Given the description of an element on the screen output the (x, y) to click on. 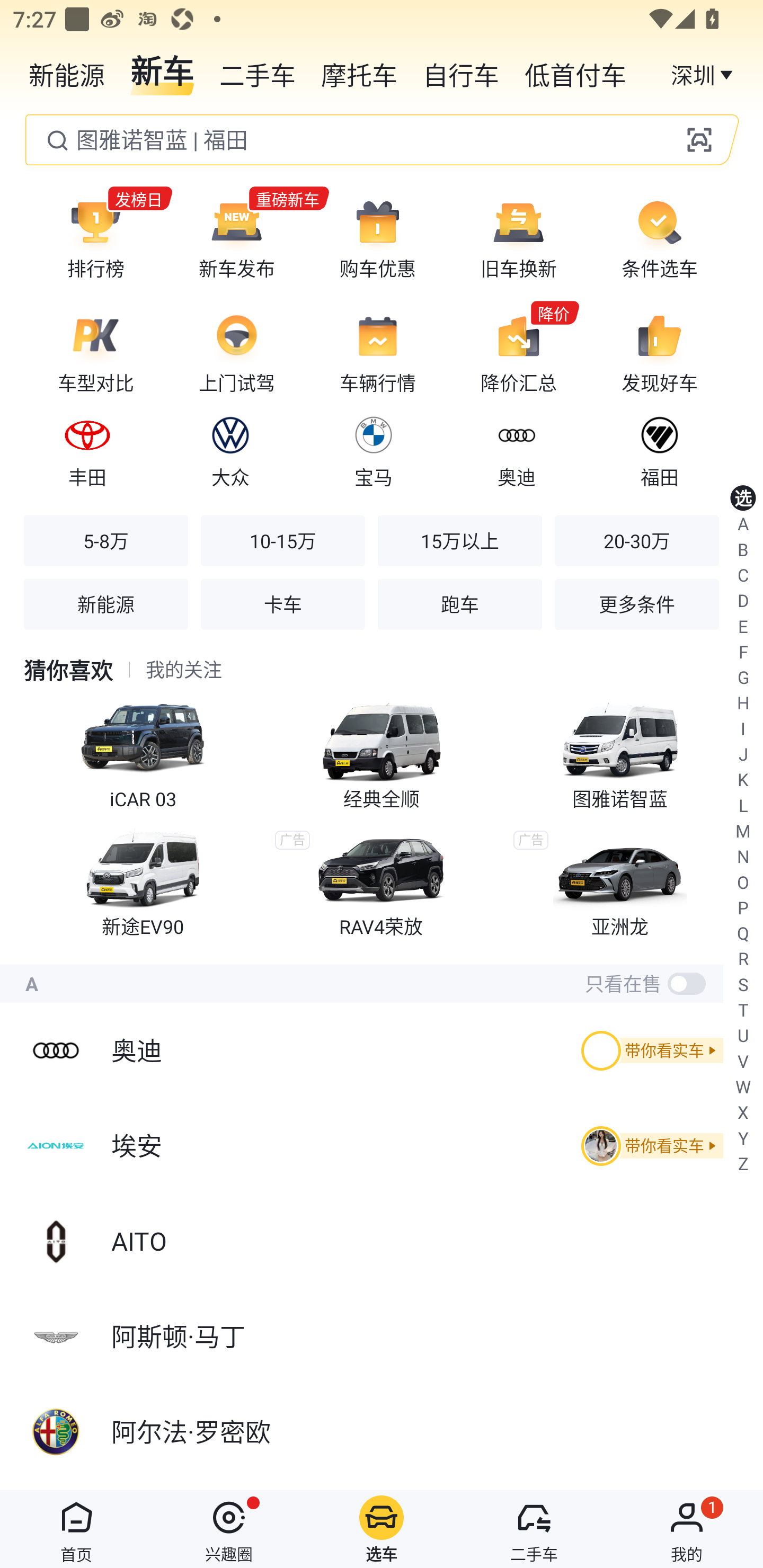
新能源 (66, 72)
新车 (161, 72)
二手车 (257, 72)
摩托车 (359, 72)
自行车 (460, 72)
低首付车 (575, 72)
深圳 (703, 72)
发榜日 排行榜 (95, 238)
重磅新车 新车发布 (236, 238)
购车优惠 (377, 238)
旧车换新 (518, 238)
条件选车 (659, 238)
车型对比 (95, 352)
上门试驾 (236, 352)
车辆行情 (377, 352)
降价 降价汇总 (518, 352)
发现好车 (659, 352)
丰田 (87, 449)
大众 (230, 449)
宝马 (373, 449)
奥迪 (516, 449)
福田 (659, 449)
5-8万 (105, 540)
10-15万 (282, 540)
15万以上 (459, 540)
20-30万 (636, 540)
新能源 (105, 604)
卡车 (282, 604)
跑车 (459, 604)
更多条件 (636, 604)
猜你喜欢 (67, 669)
我的关注 (183, 669)
iCAR 03 (142, 750)
经典全顺 (381, 750)
图雅诺智蓝 (619, 750)
新途EV90 (142, 881)
RAV4荣放 广告 (381, 881)
亚洲龙 广告 (619, 881)
奥迪 带你看实车  (381, 1050)
带你看实车  (649, 1050)
埃安 带你看实车  (381, 1145)
带你看实车  (649, 1146)
AITO (381, 1240)
阿斯顿·马丁 (381, 1336)
阿尔法·罗密欧 (381, 1432)
 首页 (76, 1528)
 兴趣圈 (228, 1528)
选车 (381, 1528)
 二手车 (533, 1528)
 我的 (686, 1528)
